Given the description of an element on the screen output the (x, y) to click on. 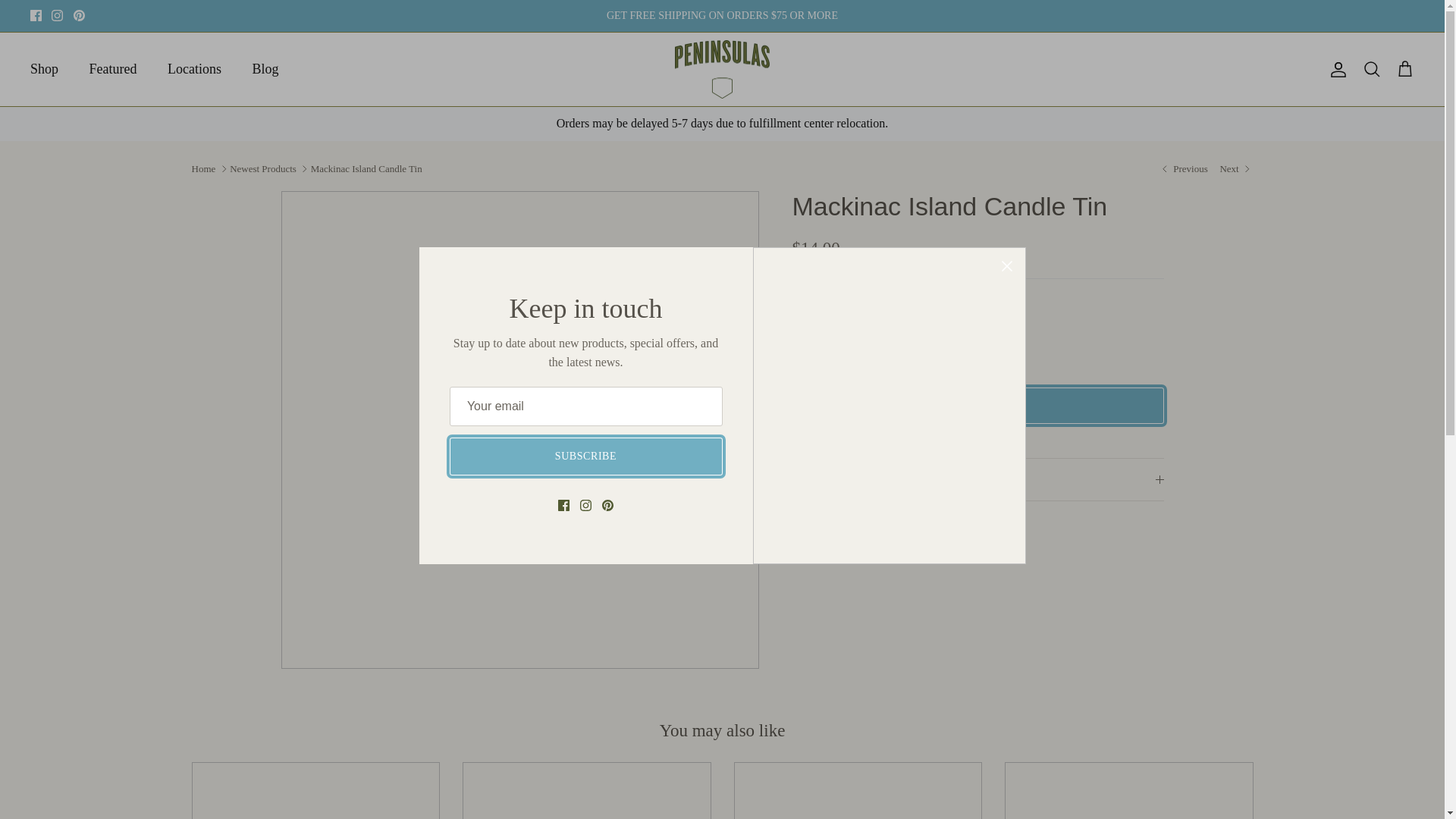
Featured (113, 69)
Account (1335, 69)
Cart (1404, 69)
Peninsulas (722, 69)
Locations (194, 69)
Instagram (56, 15)
Facebook (36, 15)
Pinterest (78, 15)
Blog (265, 69)
Lakeside Bonfire Candle Tin (1236, 168)
Shop (43, 69)
Facebook (830, 550)
Pinterest (874, 550)
Pinterest (78, 15)
Instagram (56, 15)
